Given the description of an element on the screen output the (x, y) to click on. 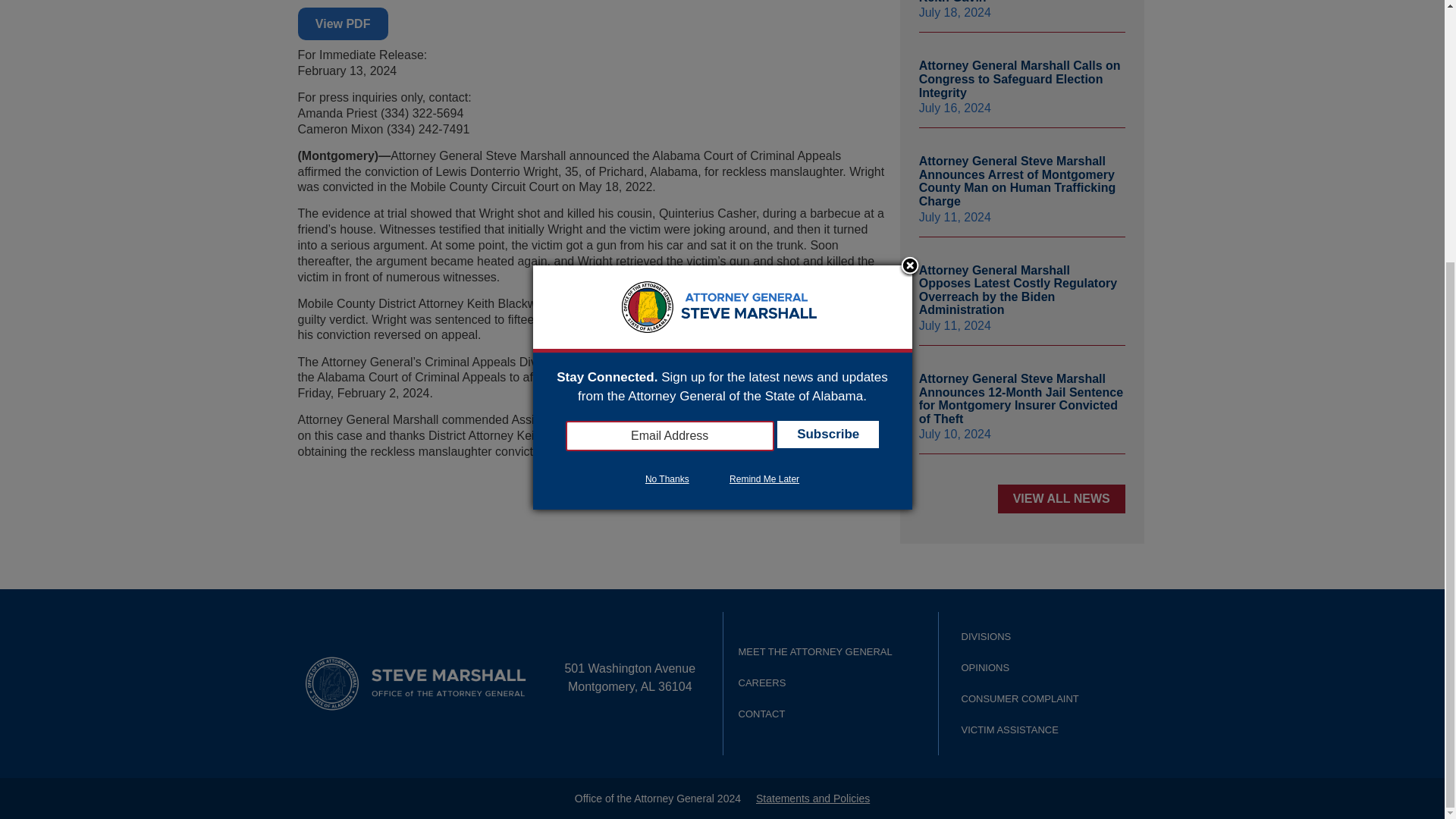
Subscribe (828, 57)
Email Address (670, 59)
View PDF (342, 23)
